Given the description of an element on the screen output the (x, y) to click on. 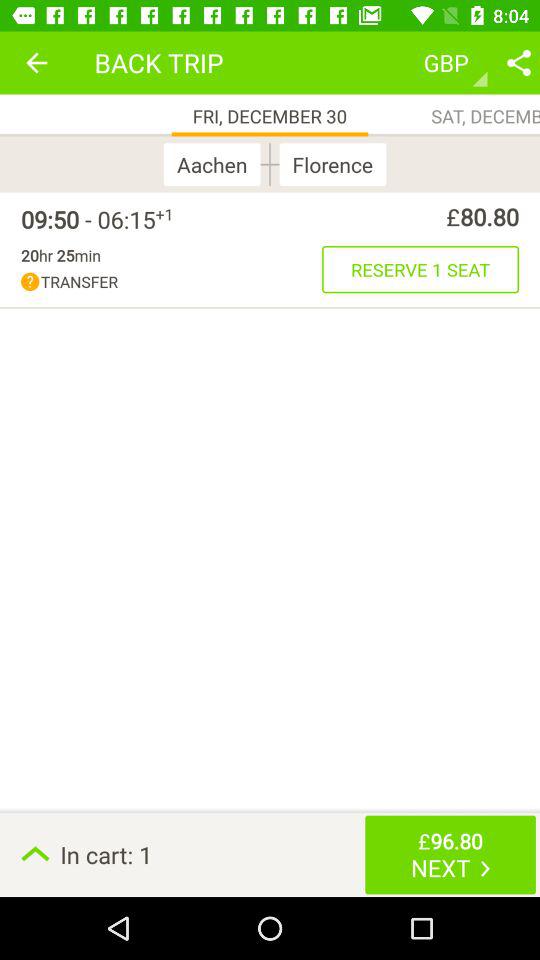
turn on icon next to gbp icon (518, 62)
